Given the description of an element on the screen output the (x, y) to click on. 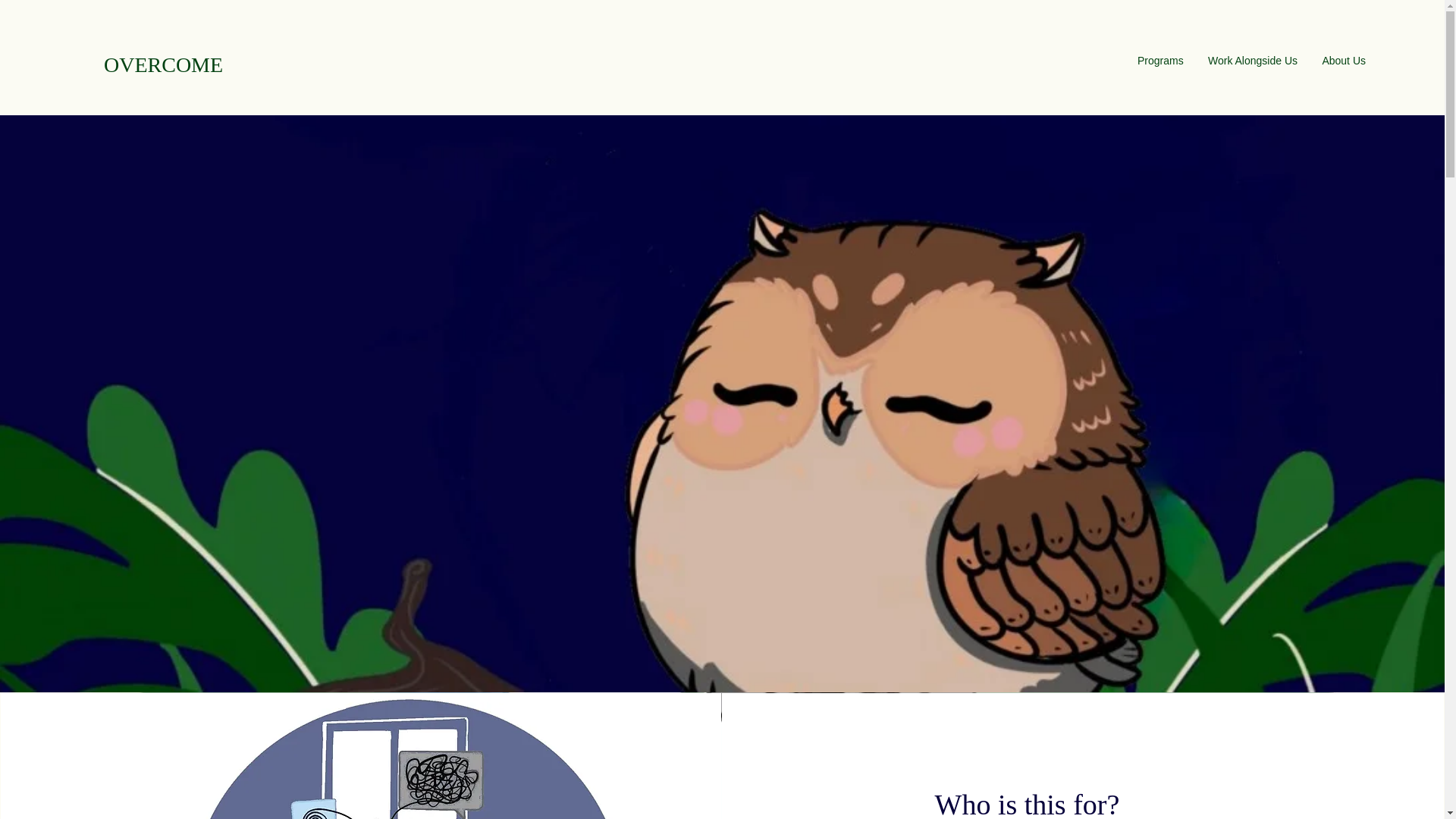
Programs (1159, 60)
About Us (1342, 60)
OVERCOME (162, 64)
